Given the description of an element on the screen output the (x, y) to click on. 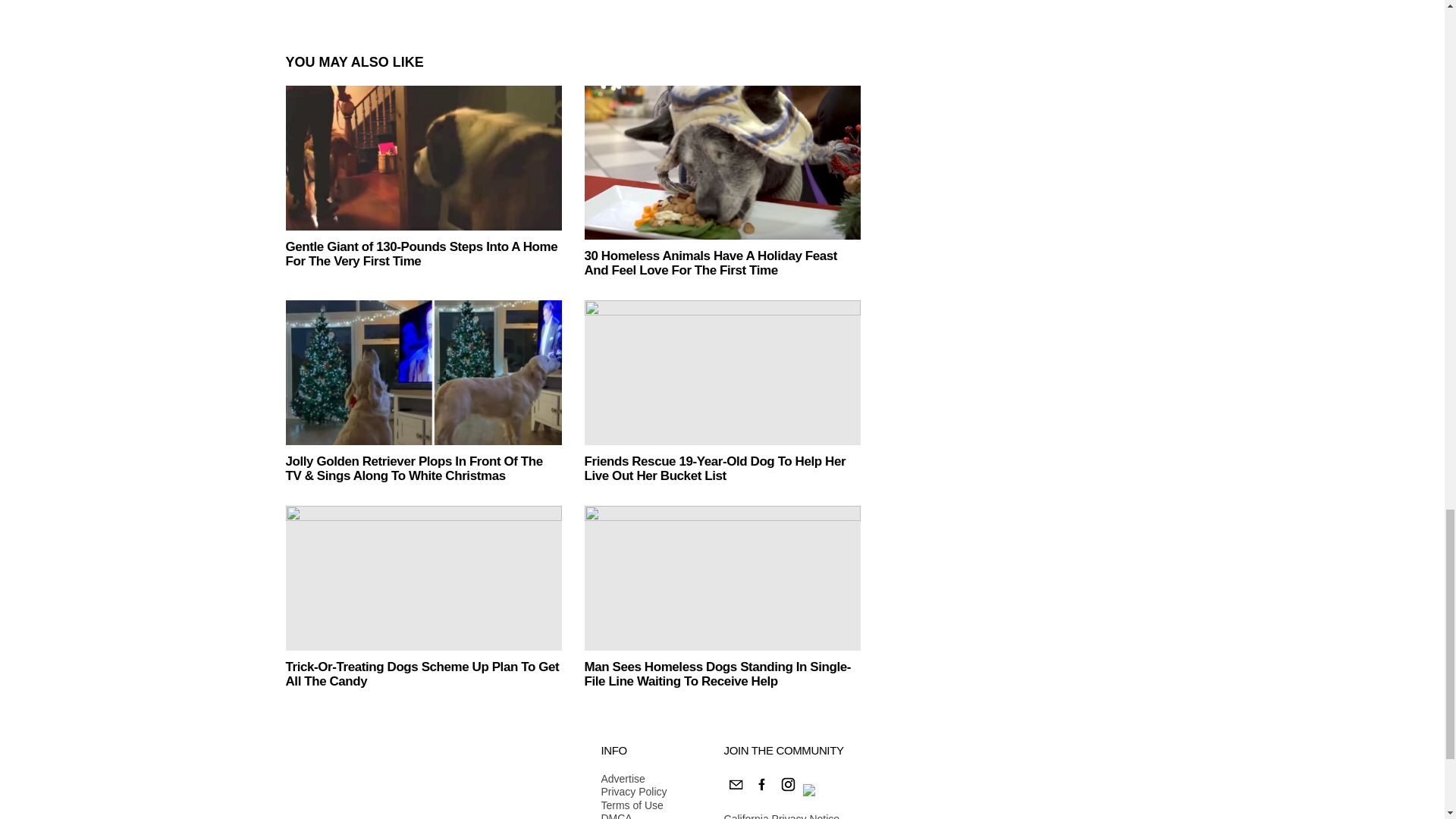
Privacy Policy (632, 792)
Trick-Or-Treating Dogs Scheme Up Plan To Get All The Candy (422, 674)
California Privacy Notice (781, 816)
DMCA (632, 815)
Trick-Or-Treating Dogs Scheme Up Plan To Get All The Candy (422, 578)
Advertise (632, 779)
Terms of Use (632, 806)
